Given the description of an element on the screen output the (x, y) to click on. 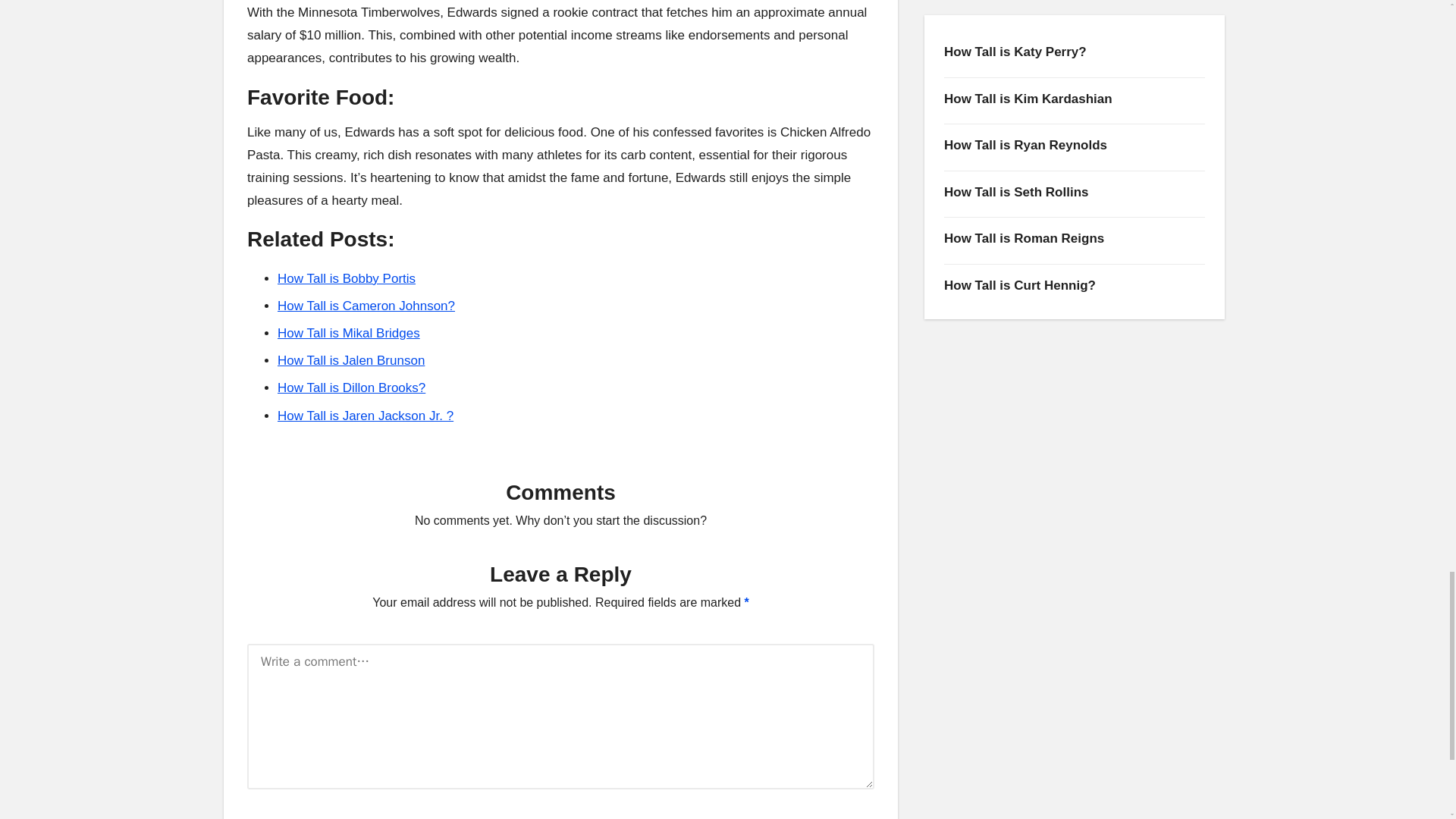
How Tall is Jalen Brunson (351, 359)
How Tall is Jaren Jackson Jr. ? (365, 415)
How Tall is Mikal Bridges (349, 332)
How Tall is Bobby Portis (346, 278)
How Tall is Cameron Johnson? (366, 305)
How Tall is Dillon Brooks? (351, 387)
